Given the description of an element on the screen output the (x, y) to click on. 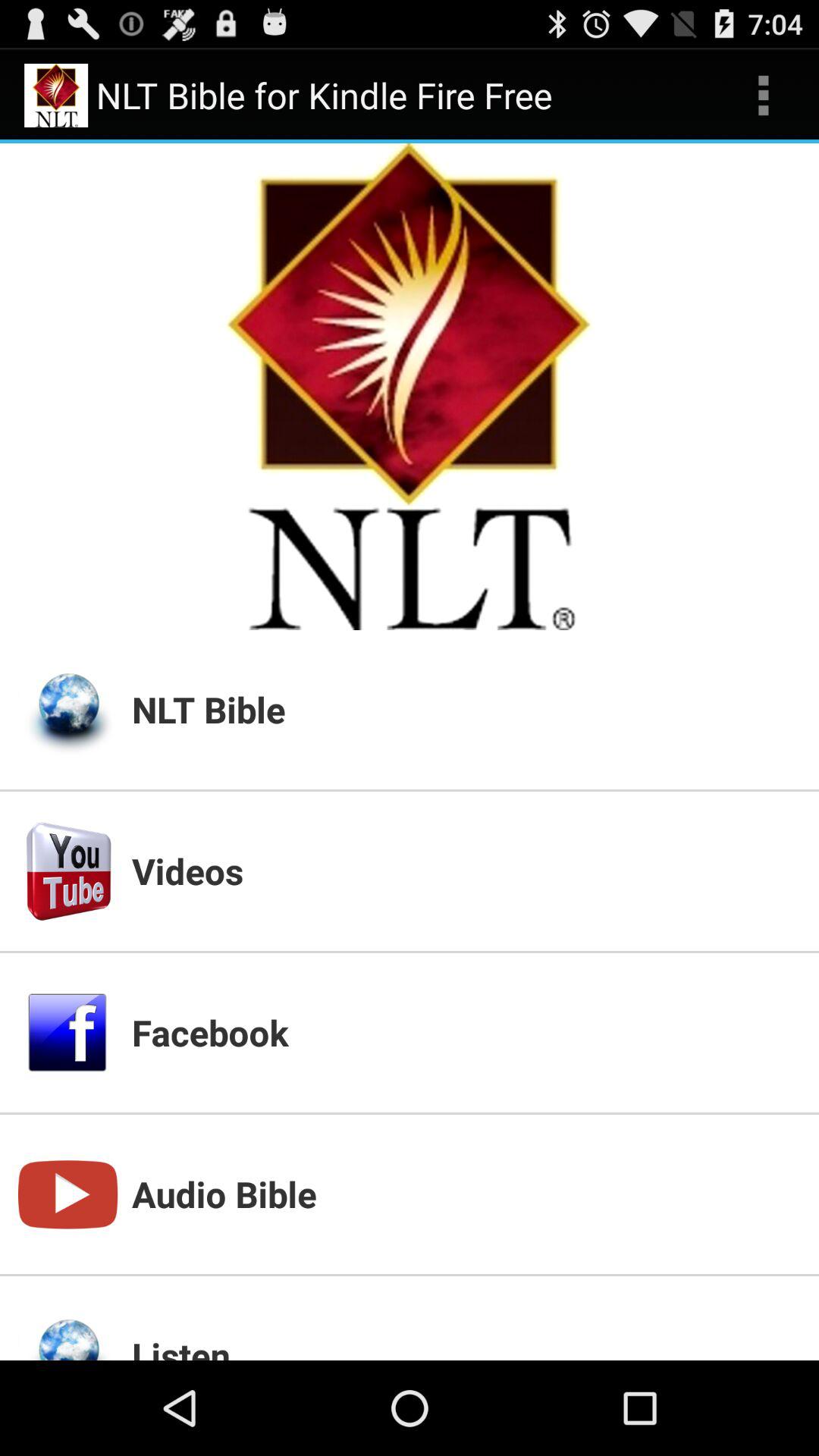
choose app below the videos item (465, 1032)
